Given the description of an element on the screen output the (x, y) to click on. 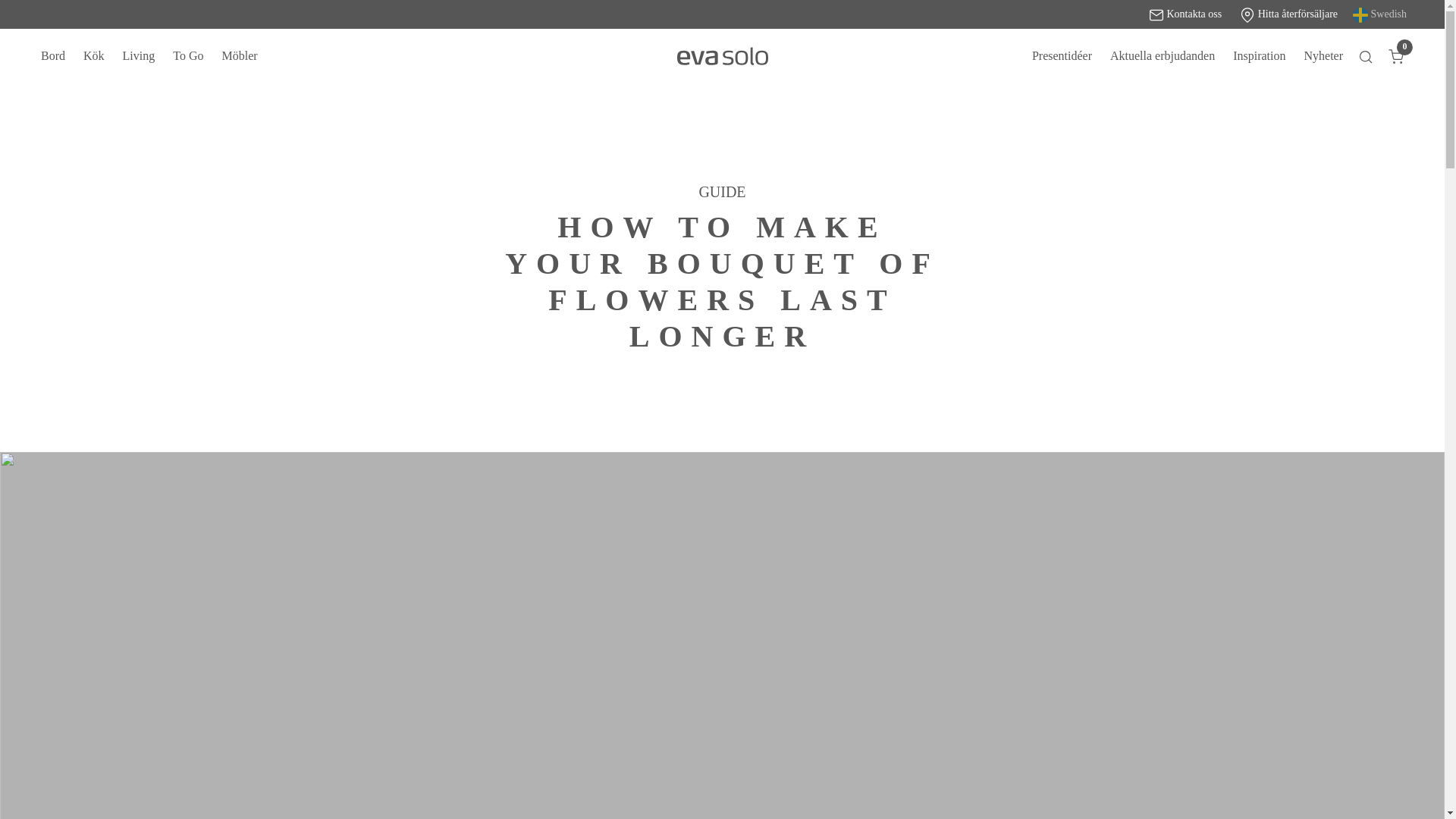
Swedish (1379, 14)
Kontakta oss (1184, 14)
